Given the description of an element on the screen output the (x, y) to click on. 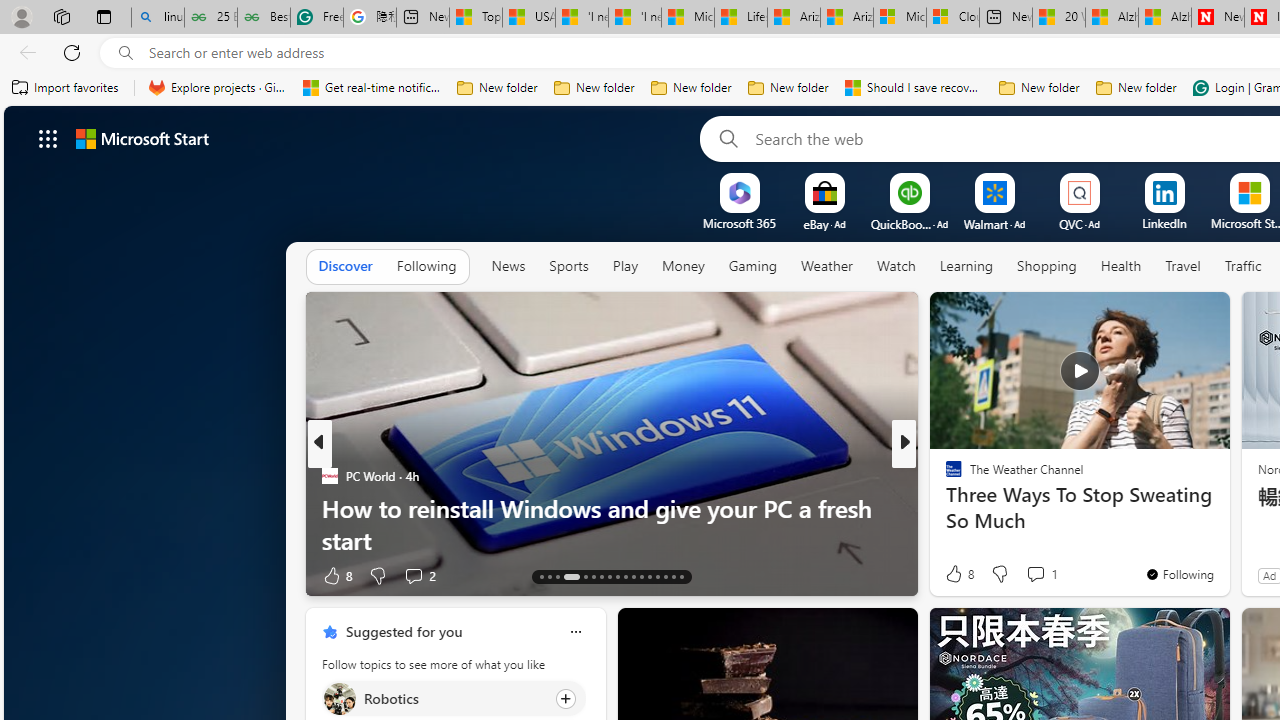
Dislike (998, 574)
View comments 65 Comment (1044, 574)
Should I save recovered Word documents? - Microsoft Support (913, 88)
Play (625, 267)
View comments 12 Comment (1042, 575)
View comments 2 Comment (419, 574)
AutomationID: tab-27 (664, 576)
Gaming (752, 267)
View comments 319 Comment (1048, 574)
View comments 10 Comment (1051, 574)
Learning (965, 265)
View comments 65 Comment (1036, 575)
